Given the description of an element on the screen output the (x, y) to click on. 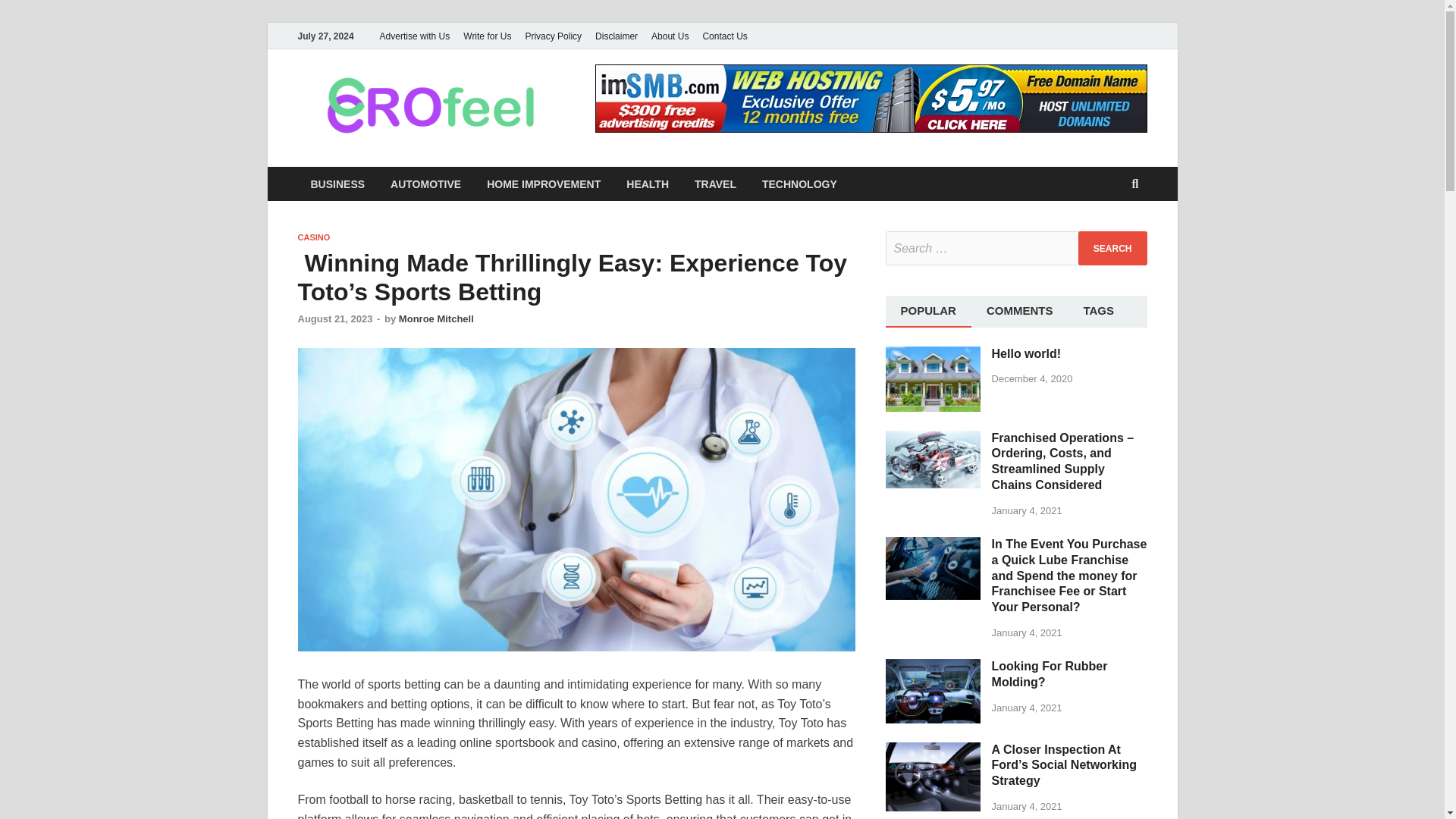
HEALTH (646, 183)
Disclaimer (616, 35)
About Us (670, 35)
EroFeel (625, 100)
Privacy Policy (553, 35)
BUSINESS (337, 183)
Looking For Rubber Molding? (932, 667)
Search (1112, 247)
Hello world! (932, 354)
Advertise with Us (414, 35)
CASINO (313, 236)
TECHNOLOGY (799, 183)
Monroe Mitchell (436, 318)
Contact Us (724, 35)
